Given the description of an element on the screen output the (x, y) to click on. 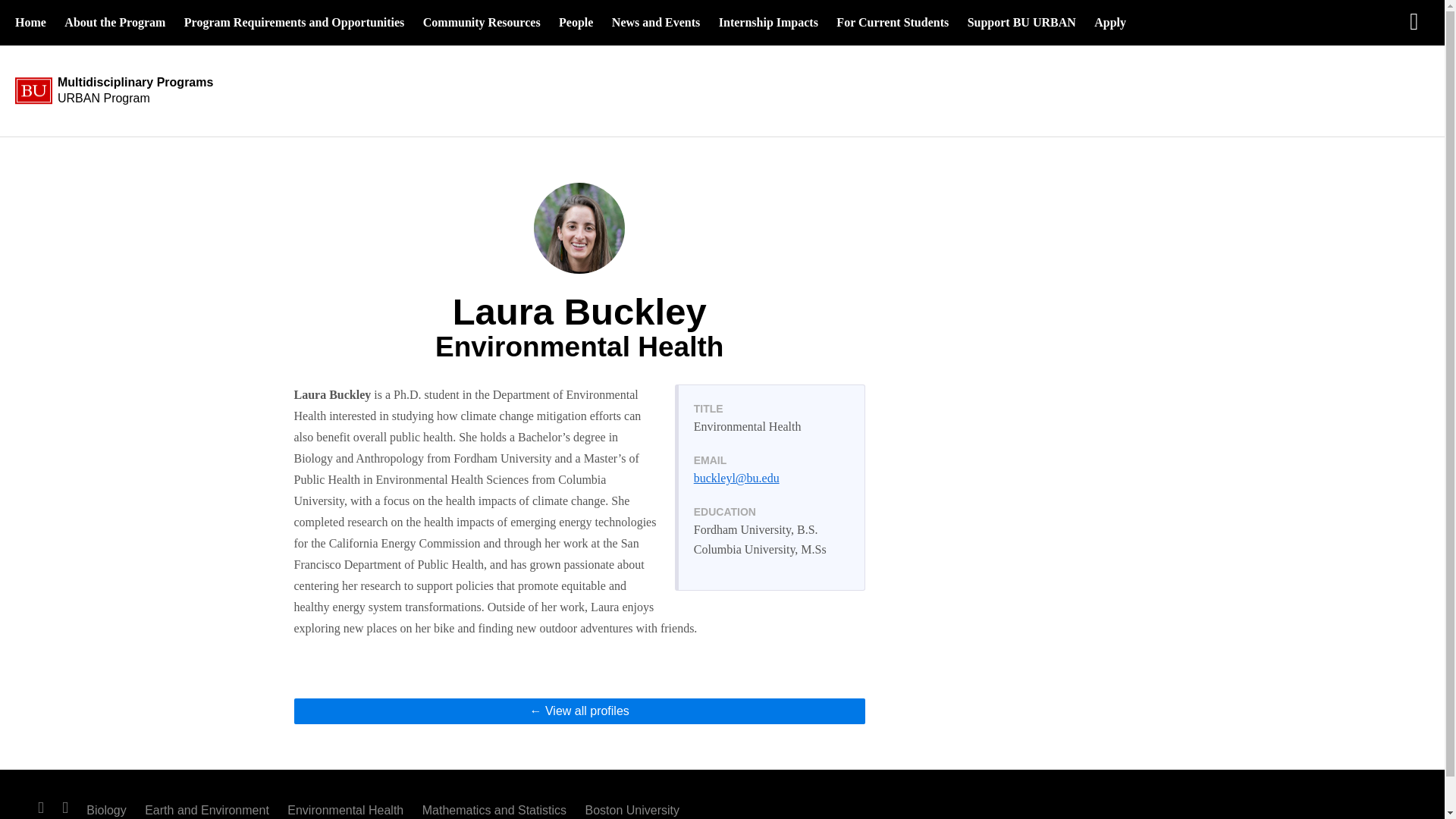
Internship Impacts (768, 22)
People (575, 22)
Navigate to: Community Resources (481, 22)
Community Resources (481, 22)
Program Requirements and Opportunities (124, 91)
Apply (294, 22)
Navigate to: About the Program (1110, 22)
Navigate to: Home (114, 22)
View all profiles (30, 22)
Support BU URBAN (579, 710)
For Current Students (1021, 22)
Navigate to: People (892, 22)
About the Program (575, 22)
News and Events (114, 22)
